Given the description of an element on the screen output the (x, y) to click on. 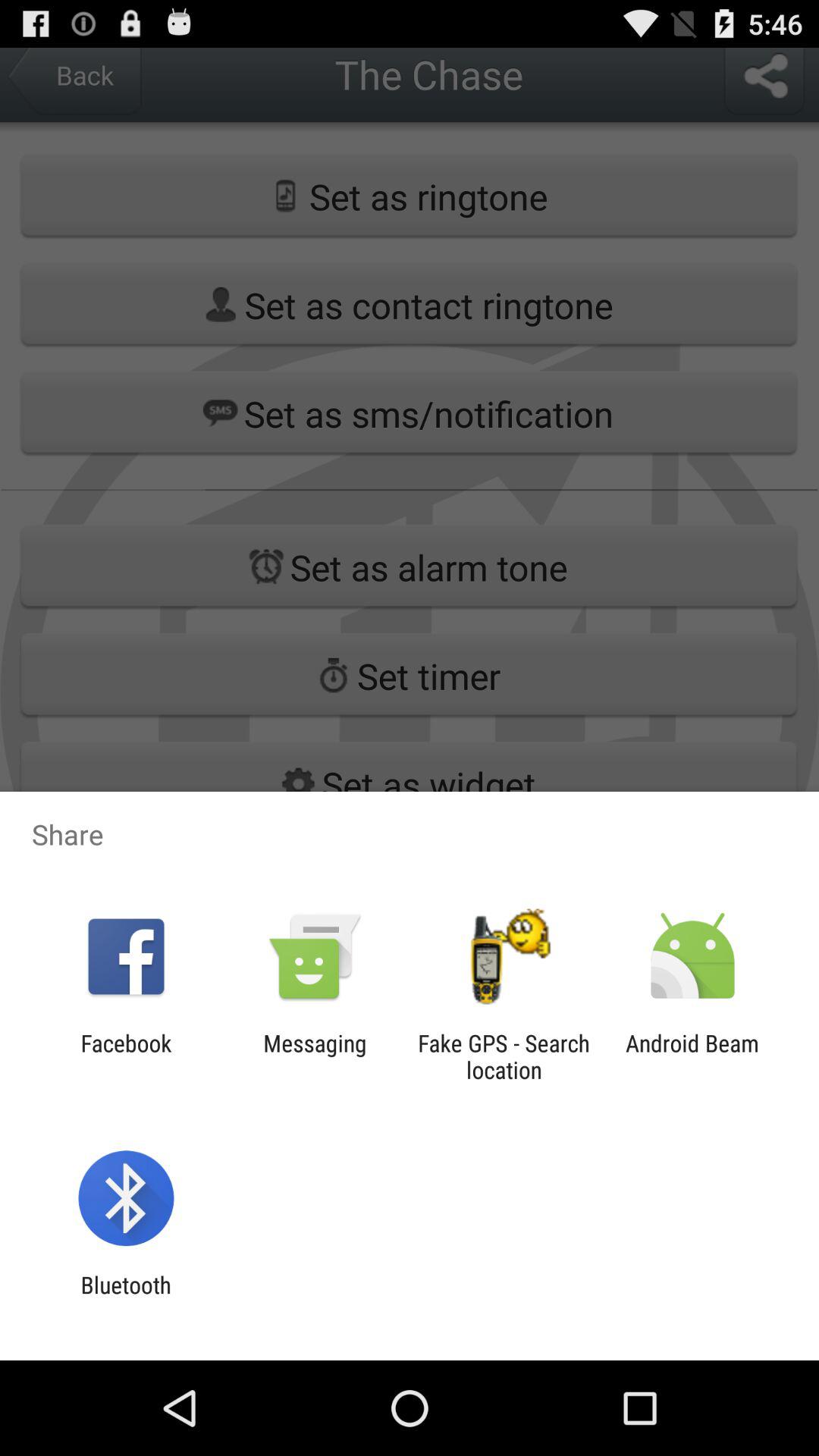
open app to the left of fake gps search item (314, 1056)
